Given the description of an element on the screen output the (x, y) to click on. 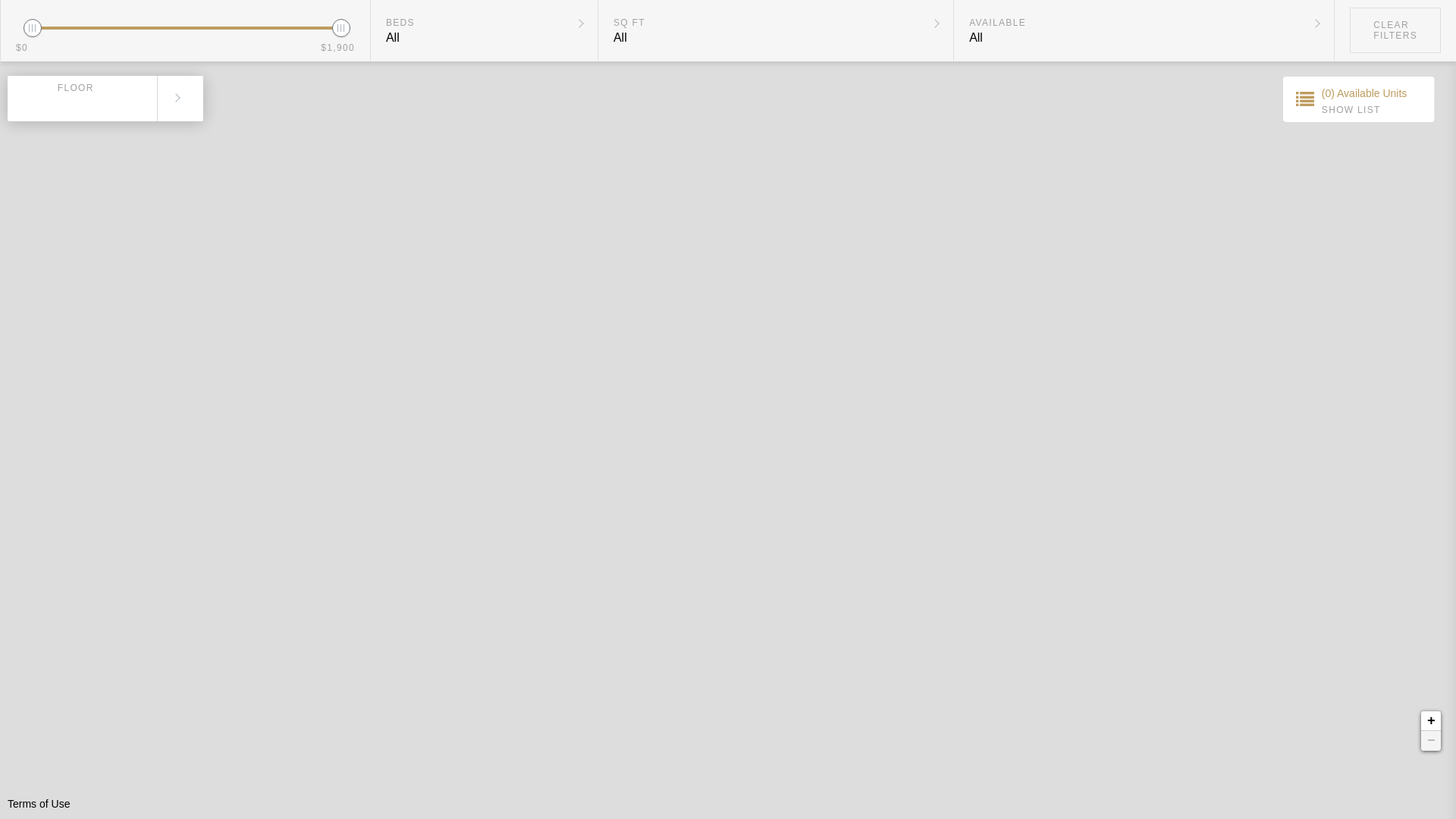
+ Element type: text (1430, 721)
CLEAR
FILTERS Element type: text (1394, 30)
(0) Available Units
SHOW LIST Element type: text (1358, 99)
